Given the description of an element on the screen output the (x, y) to click on. 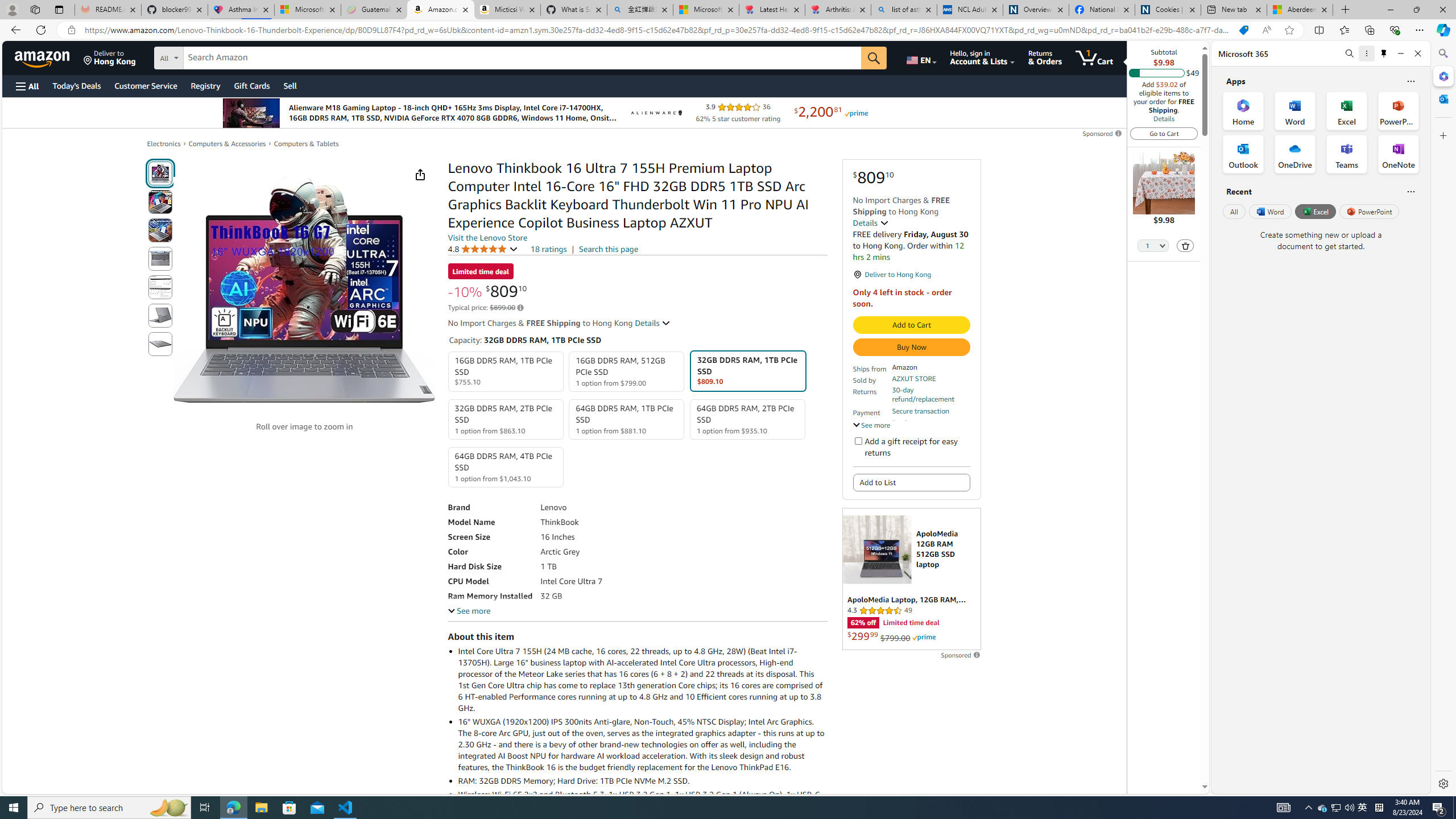
64GB DDR5 RAM, 4TB PCIe SSD 1 option from $1,043.10 (505, 466)
PowerPoint (1369, 210)
Buy Now (911, 347)
64GB DDR5 RAM, 2TB PCIe SSD 1 option from $935.10 (747, 418)
16GB DDR5 RAM, 512GB PCIe SSD 1 option from $799.00 (626, 371)
